Given the description of an element on the screen output the (x, y) to click on. 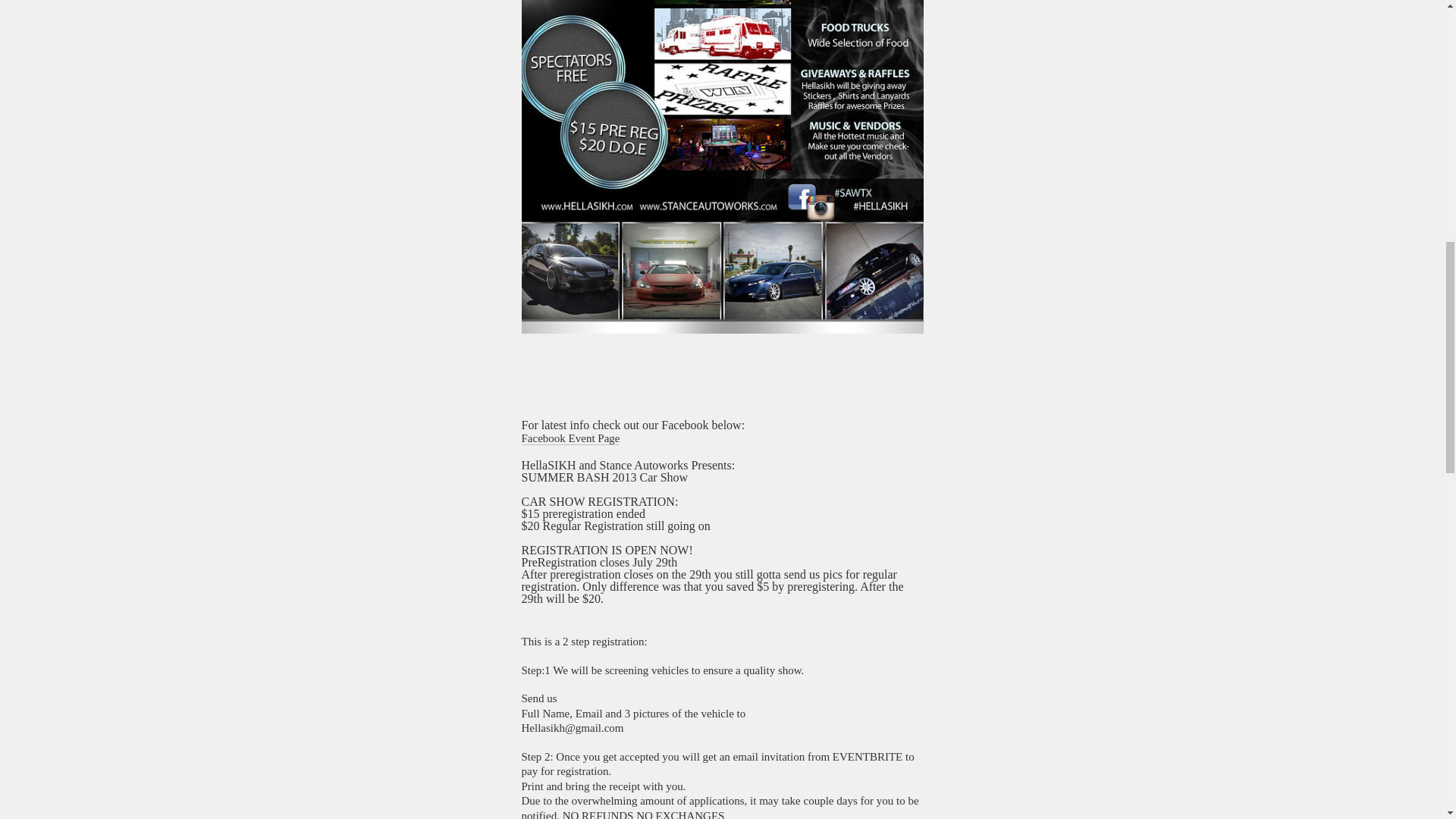
Facebook Event Page (570, 438)
